Given the description of an element on the screen output the (x, y) to click on. 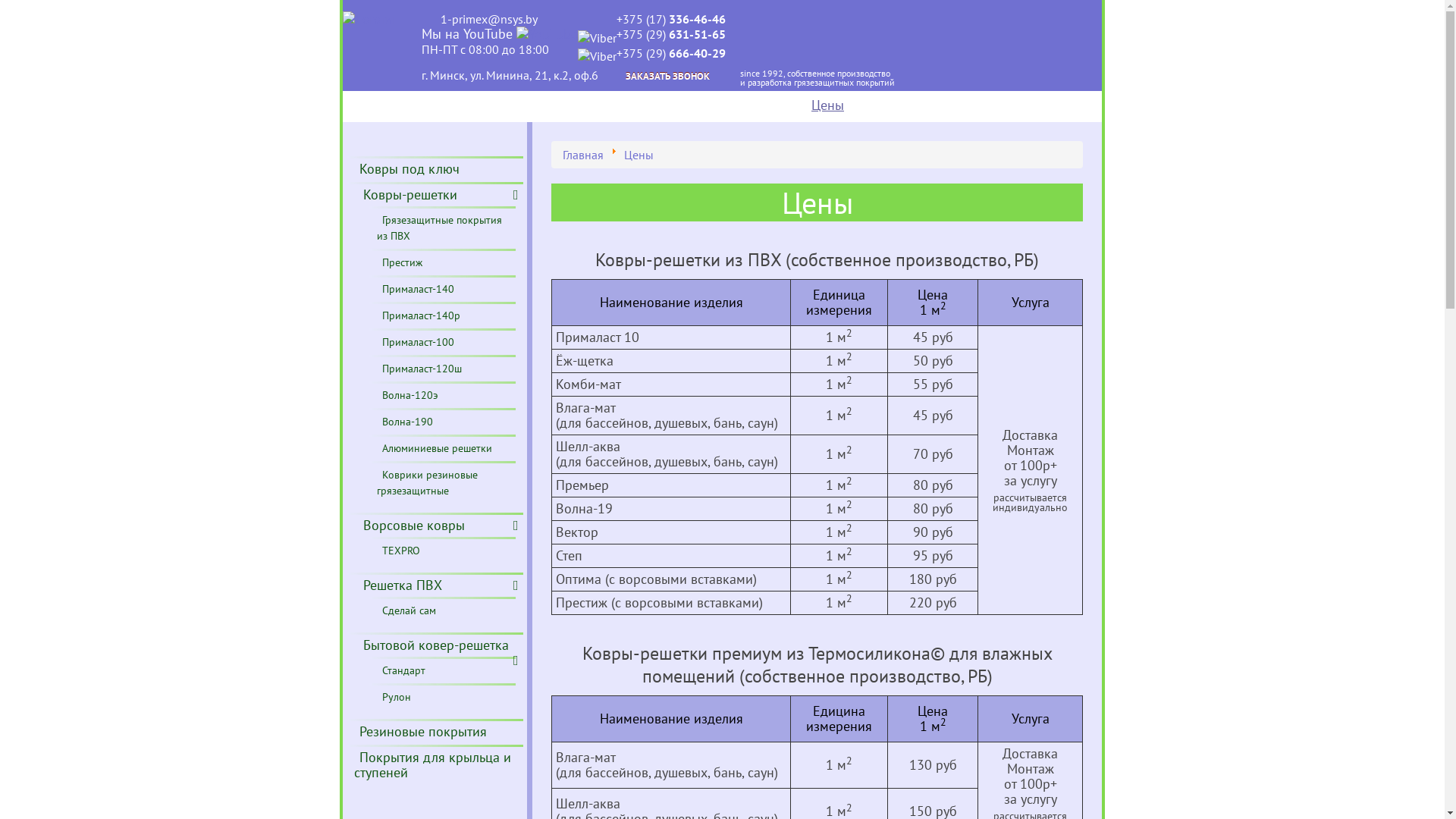
+375 (17) 336-46-46 Element type: text (670, 18)
1-primex@nsys.by Element type: text (479, 18)
+375 (29) 631-51-65 Element type: text (651, 35)
TEXPRO Element type: text (406, 551)
+375 (29) 666-40-29 Element type: text (651, 54)
